Given the description of an element on the screen output the (x, y) to click on. 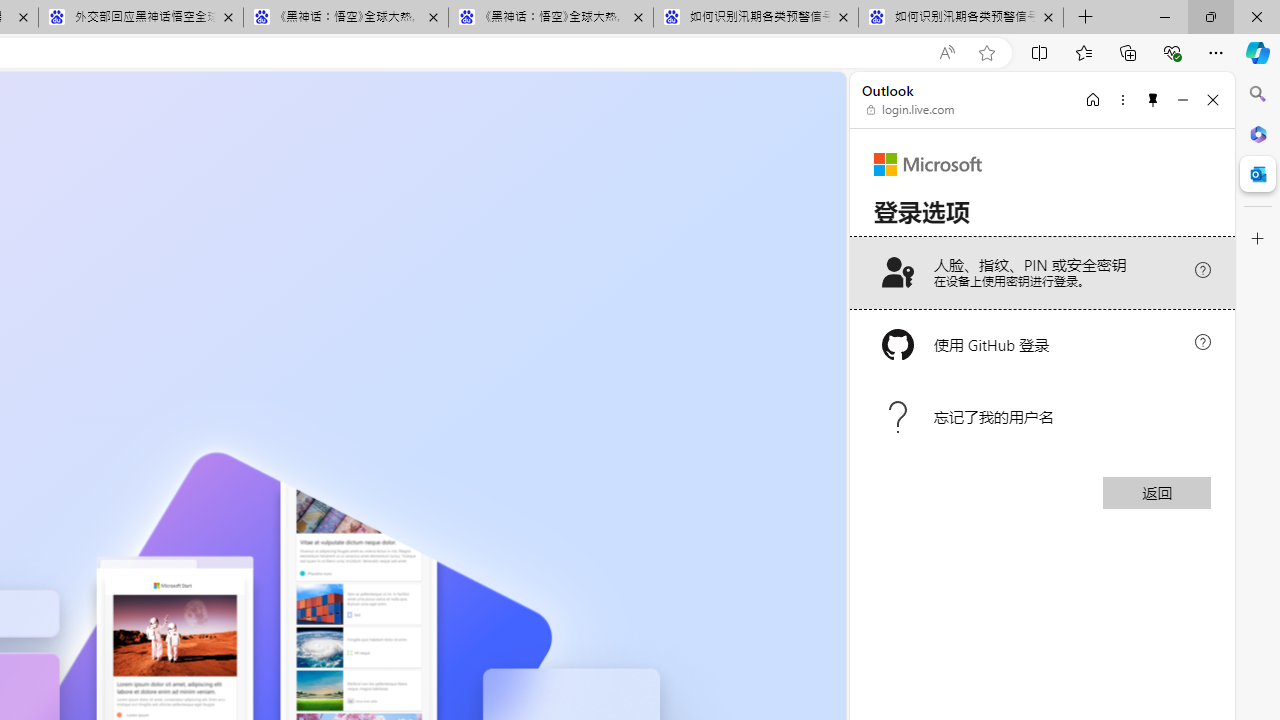
login.live.com (911, 110)
